Given the description of an element on the screen output the (x, y) to click on. 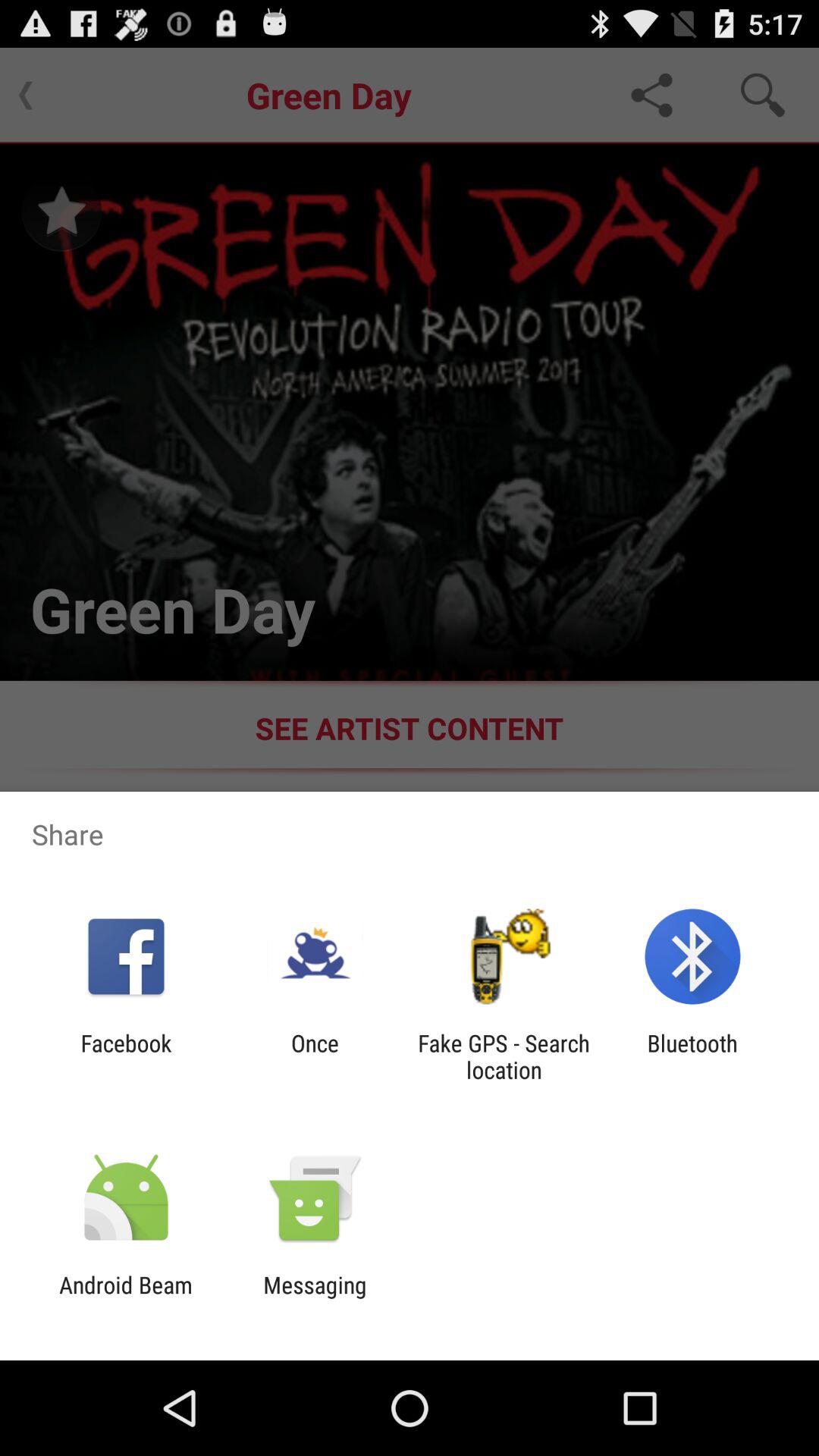
swipe to the once item (314, 1056)
